Given the description of an element on the screen output the (x, y) to click on. 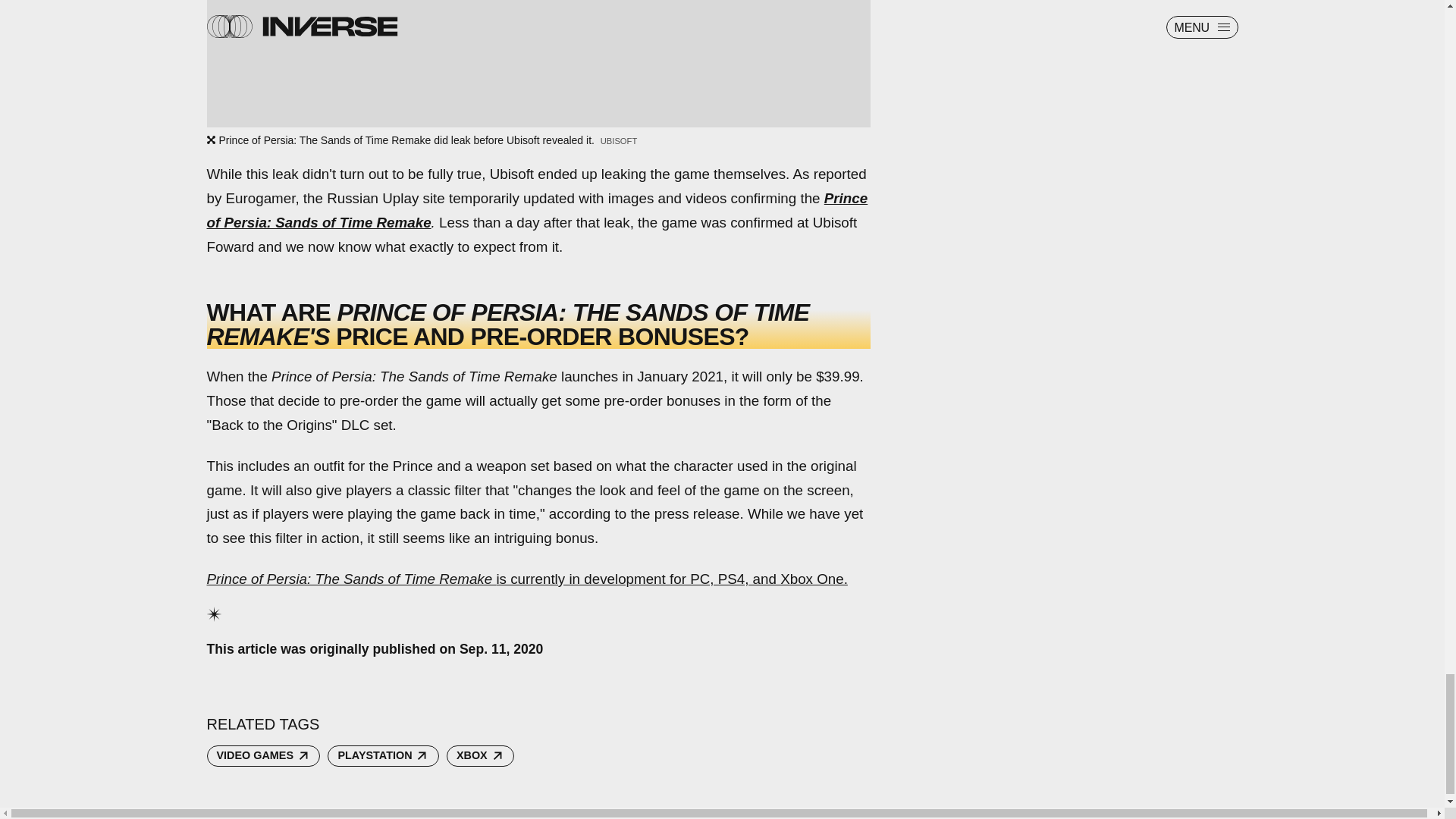
Prince of Persia: Sands of Time Remake (536, 210)
PLAYSTATION (382, 755)
XBOX (479, 755)
VIDEO GAMES (263, 755)
